Given the description of an element on the screen output the (x, y) to click on. 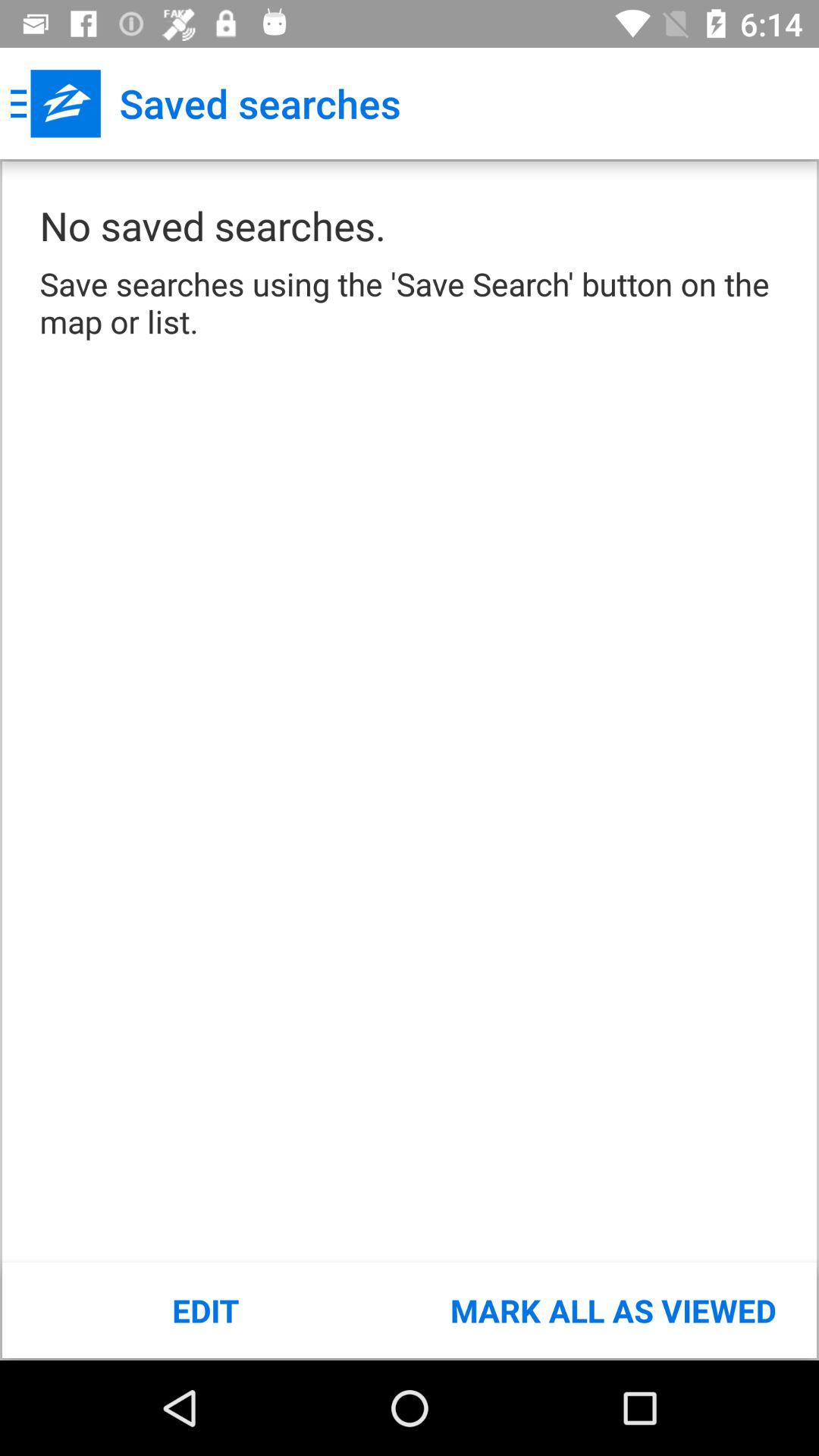
choose the edit item (205, 1310)
